Given the description of an element on the screen output the (x, y) to click on. 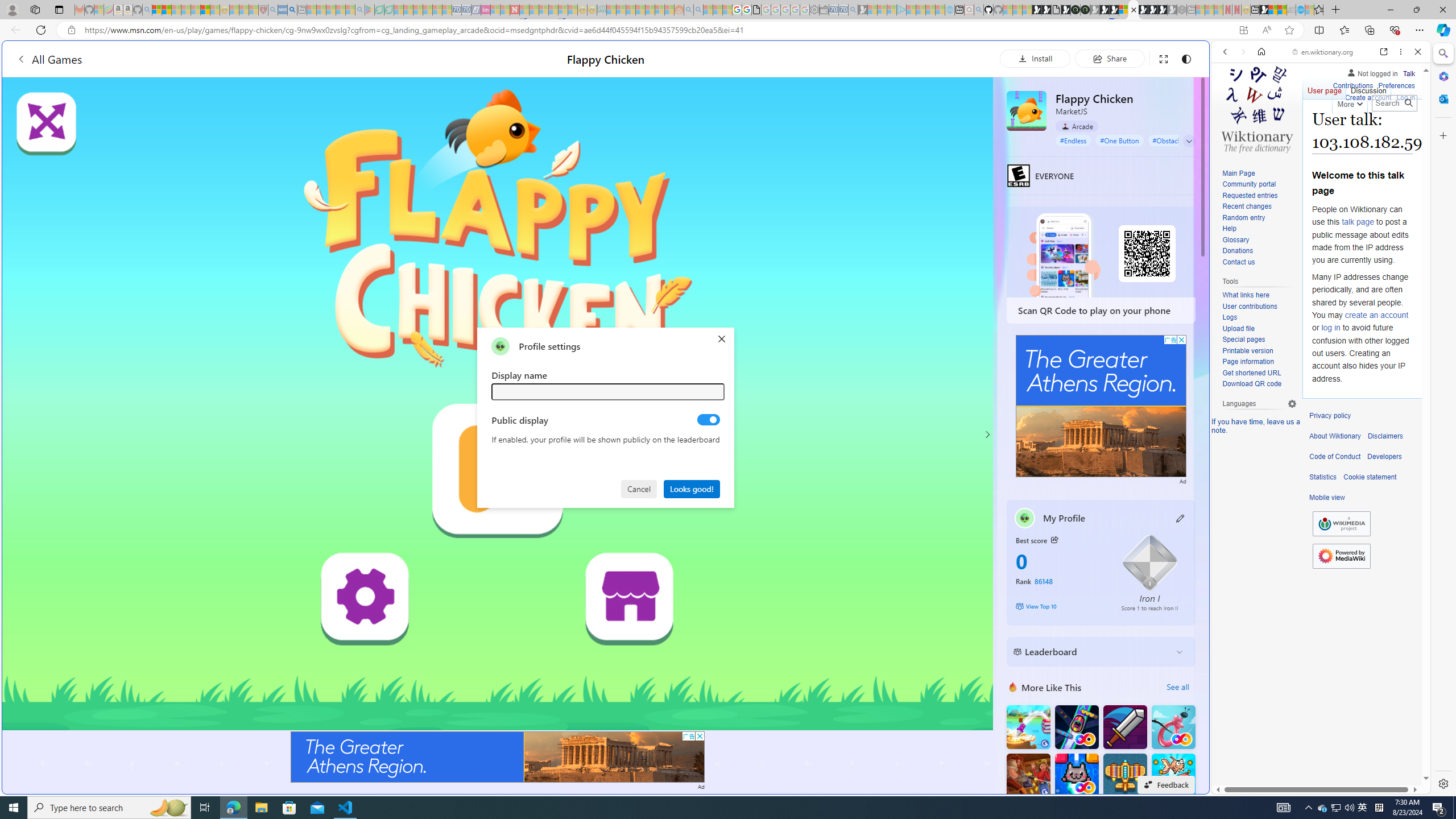
If you have time, leave us a note. (1255, 425)
Statistics (1322, 477)
Contributions (1352, 84)
Search Wiktionary (1393, 103)
Kinda Frugal - MSN - Sleeping (649, 9)
Wikimedia Foundation (1341, 523)
en.wiktionary.org (1323, 51)
google_privacy_policy_zh-CN.pdf (755, 9)
